Given the description of an element on the screen output the (x, y) to click on. 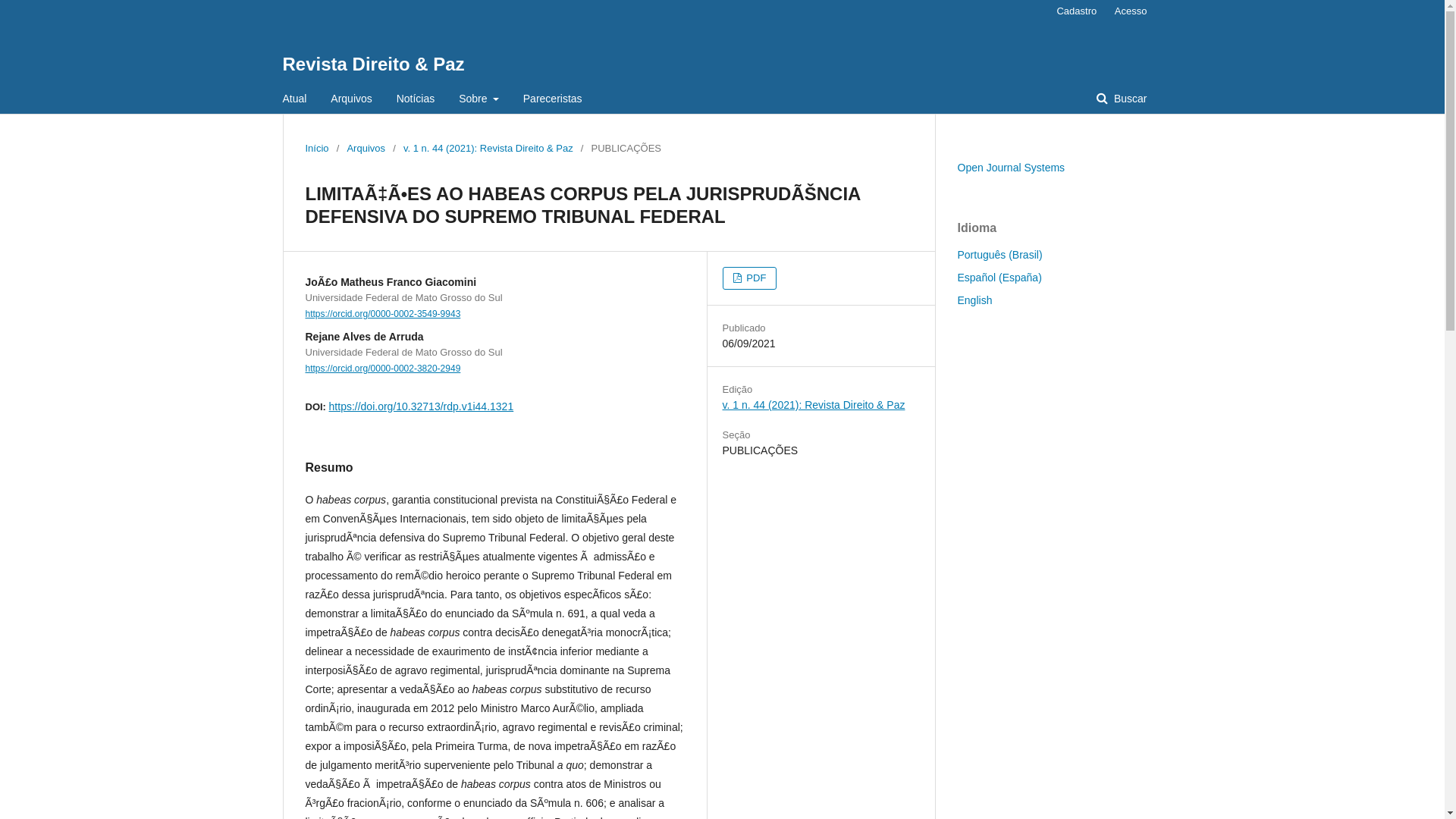
https://orcid.org/0000-0002-3549-9943 Element type: text (382, 313)
v. 1 n. 44 (2021): Revista Direito & Paz Element type: text (812, 404)
Revista Direito & Paz Element type: text (373, 64)
Pareceristas Element type: text (552, 98)
https://orcid.org/0000-0002-3820-2949 Element type: text (382, 368)
PDF Element type: text (748, 277)
Open Journal Systems Element type: text (1010, 167)
Buscar Element type: text (1121, 98)
Acesso Element type: text (1127, 11)
Cadastro Element type: text (1076, 11)
Sobre Element type: text (478, 98)
Atual Element type: text (294, 98)
v. 1 n. 44 (2021): Revista Direito & Paz Element type: text (488, 148)
https://doi.org/10.32713/rdp.v1i44.1321 Element type: text (421, 406)
Arquivos Element type: text (350, 98)
English Element type: text (974, 300)
Arquivos Element type: text (365, 148)
